Given the description of an element on the screen output the (x, y) to click on. 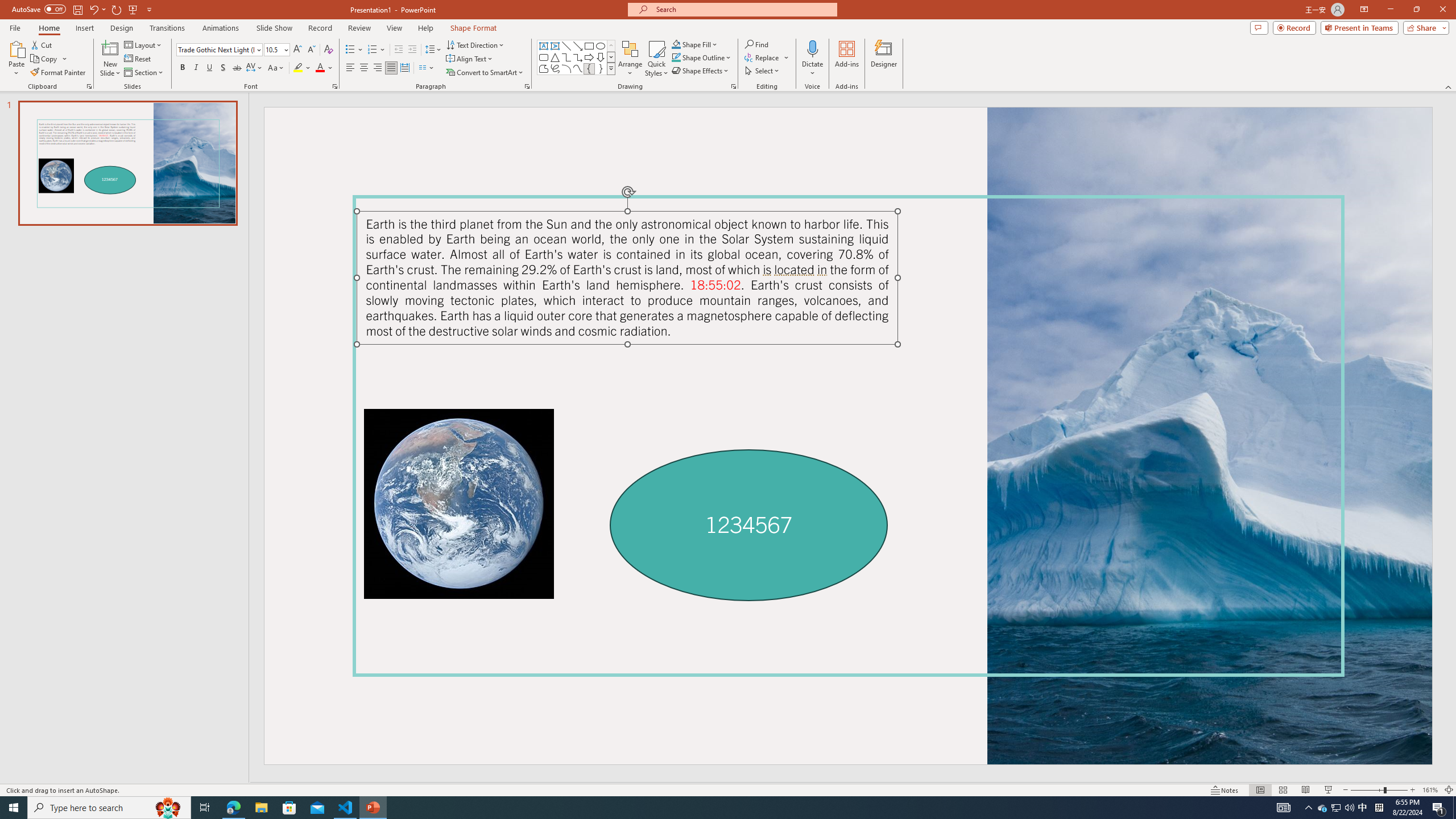
AutomationID: ShapesInsertGallery (576, 57)
Font (219, 49)
Increase Font Size (297, 49)
Underline (209, 67)
Quick Styles (656, 58)
Paste (16, 48)
Office Clipboard... (88, 85)
Shape Outline (701, 56)
